Given the description of an element on the screen output the (x, y) to click on. 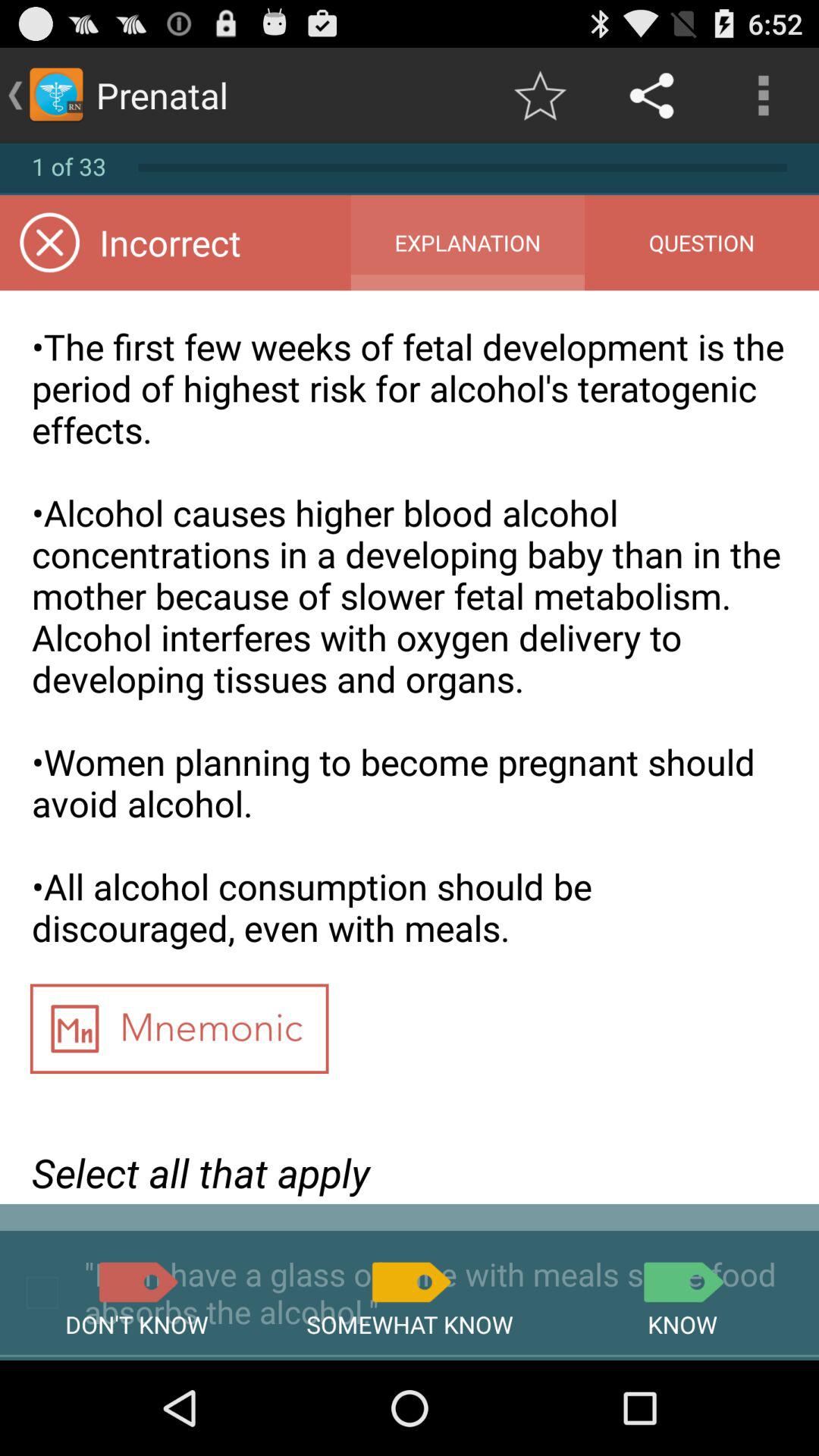
click the app to the right of the incorrect app (467, 242)
